Given the description of an element on the screen output the (x, y) to click on. 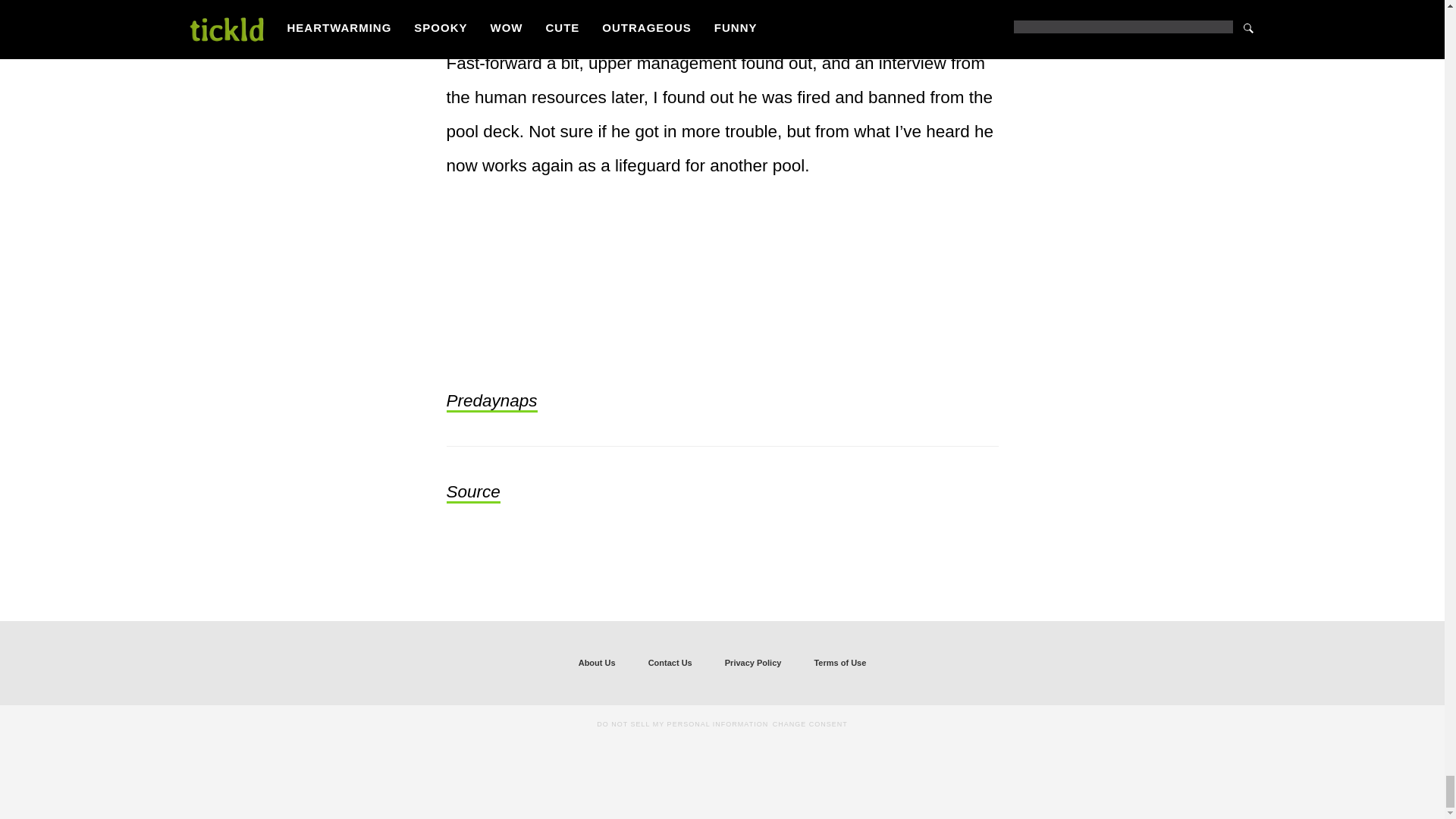
Predaynaps (491, 401)
Source (472, 492)
